Given the description of an element on the screen output the (x, y) to click on. 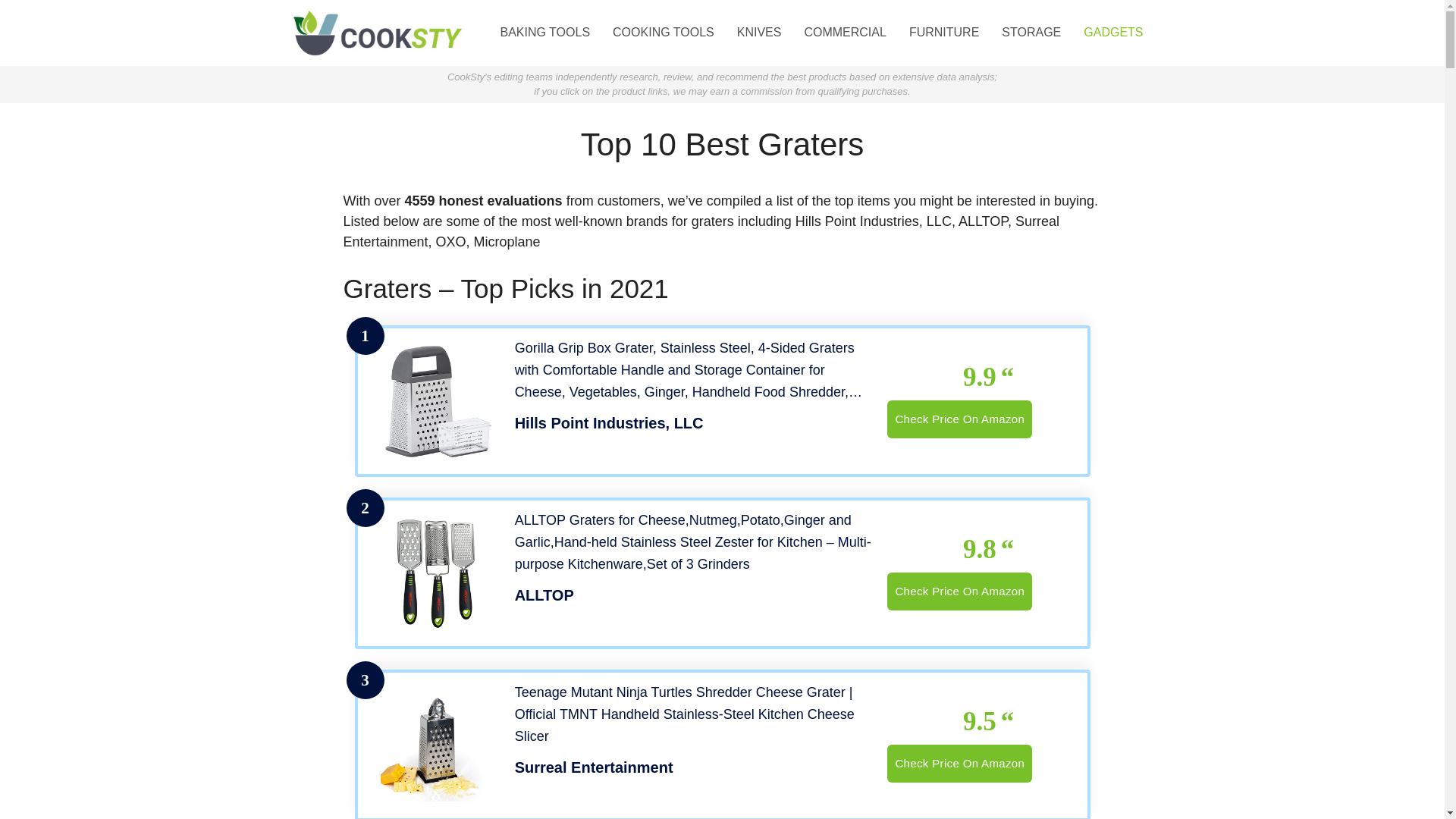
Check Price On Amazon (959, 591)
GADGETS (1112, 32)
COOKING TOOLS (663, 32)
COMMERCIAL (844, 32)
STORAGE (1030, 32)
BAKING TOOLS (544, 32)
KNIVES (759, 32)
FURNITURE (944, 32)
Cooksty.com (376, 31)
Check Price On Amazon (959, 763)
